Given the description of an element on the screen output the (x, y) to click on. 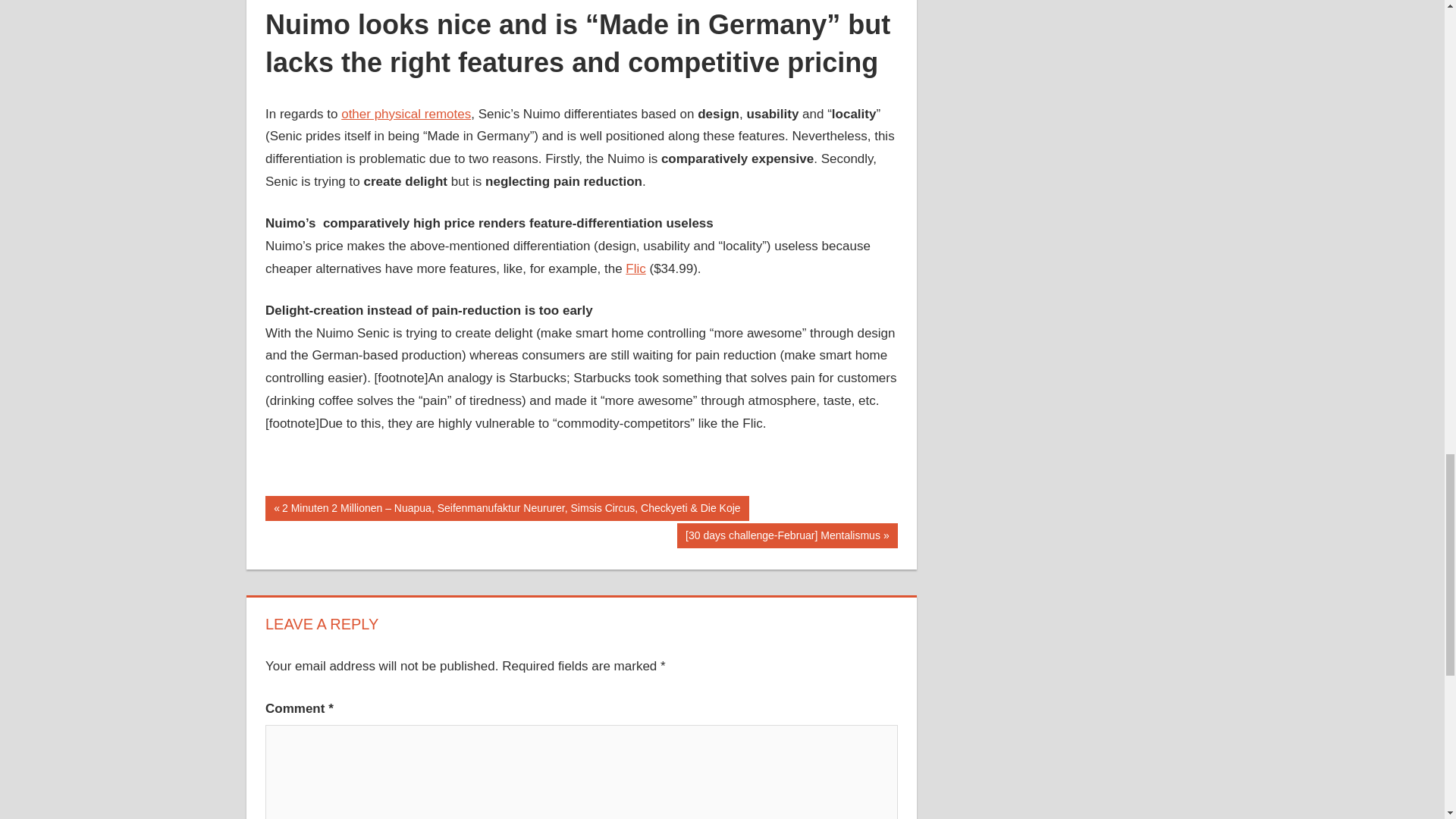
other physical remotes (405, 114)
Flic (635, 268)
